Given the description of an element on the screen output the (x, y) to click on. 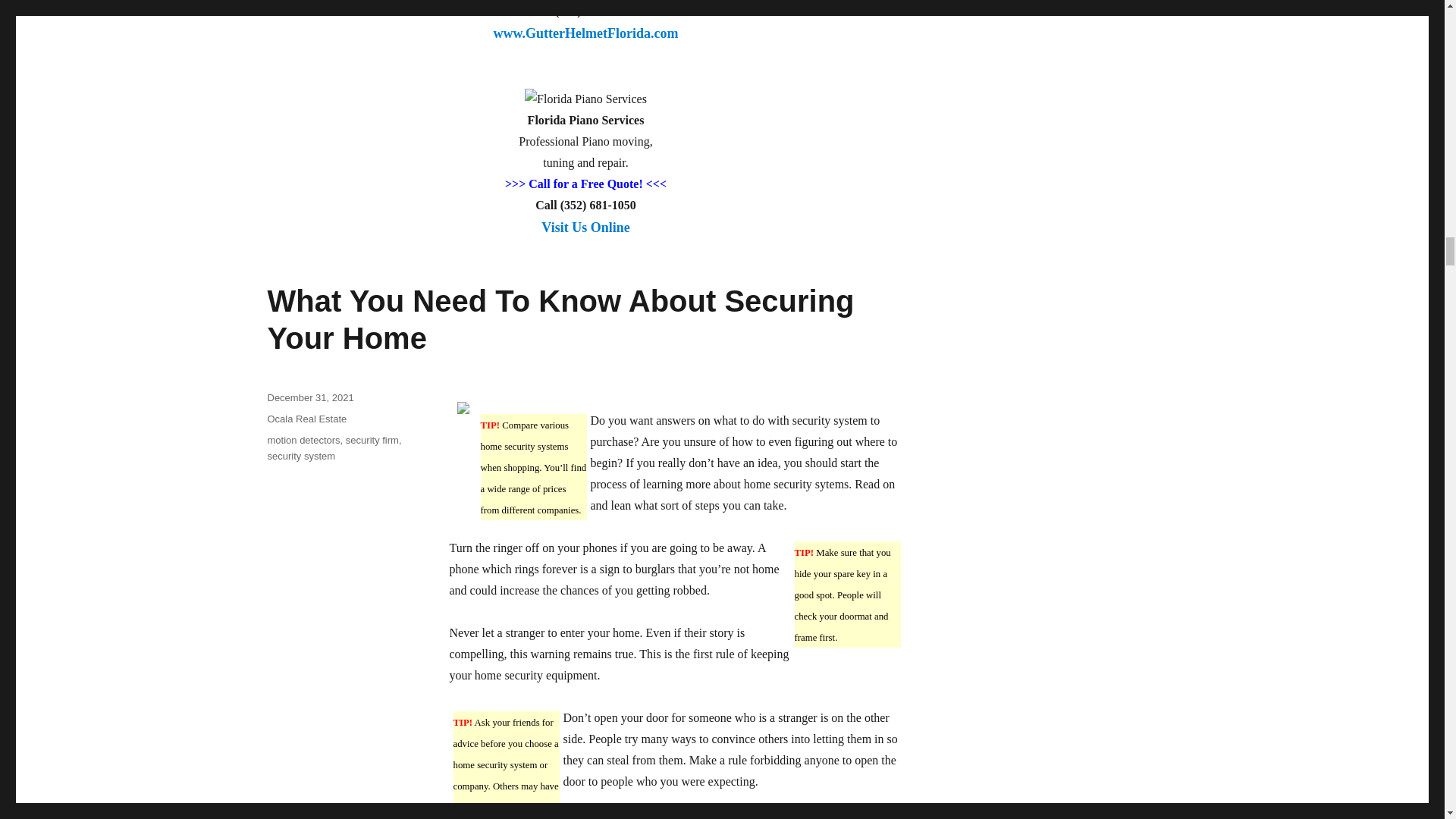
What You Need To Know About Securing Your Home (559, 319)
motion detectors (302, 439)
December 31, 2021 (309, 397)
www.GutterHelmetFlorida.com (585, 42)
security system (300, 455)
security firm (372, 439)
Ocala Real Estate (306, 419)
Visit Us Online (585, 236)
